Given the description of an element on the screen output the (x, y) to click on. 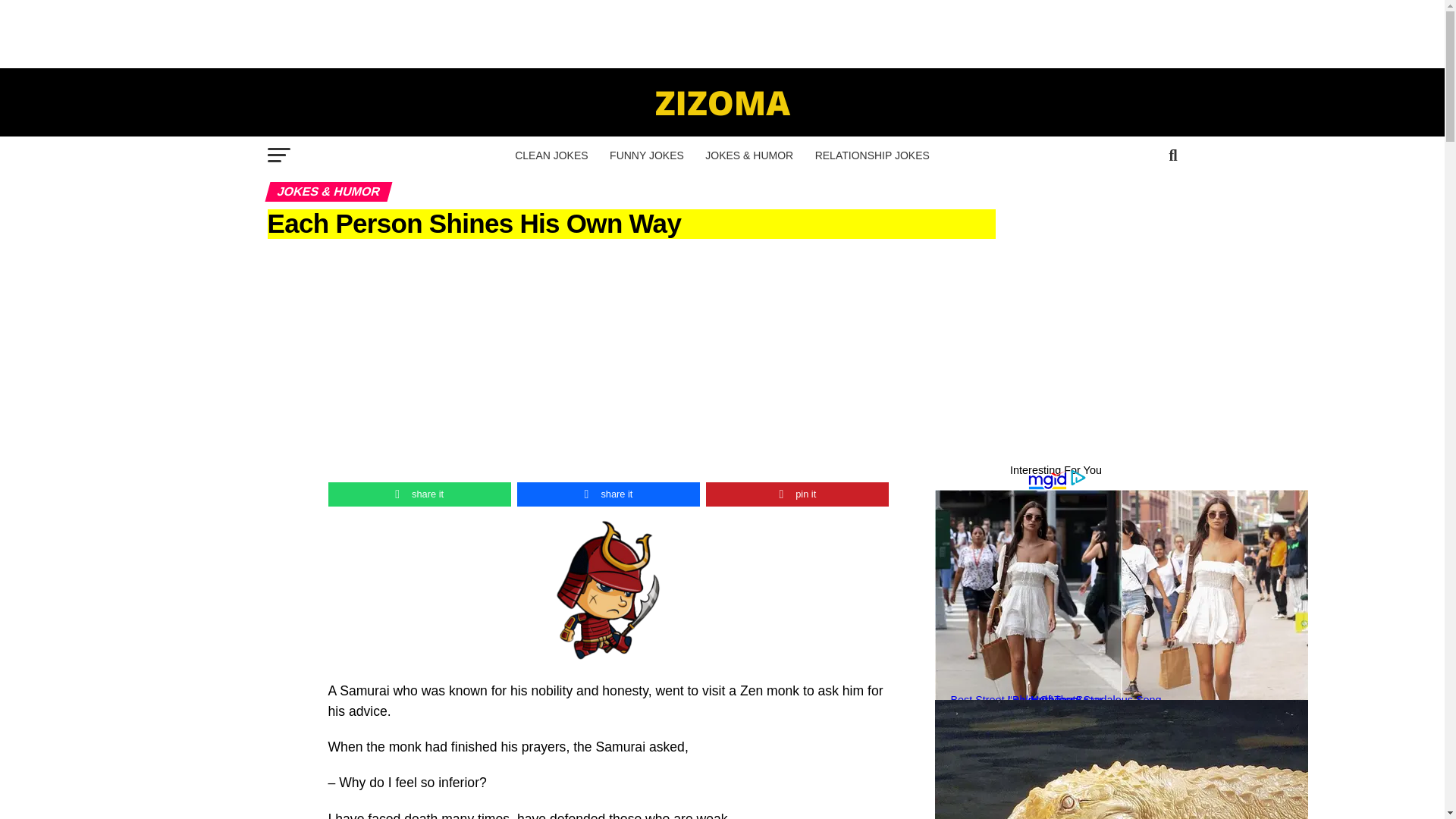
WhatsApp (419, 494)
CLEAN JOKES (550, 155)
Submit this to Pinterest (797, 494)
share it (419, 494)
Advertisement (722, 788)
pin it (797, 494)
RELATIONSHIP JOKES (872, 155)
Share this on Facebook (608, 494)
Advertisement (721, 33)
FUNNY JOKES (646, 155)
share it (608, 494)
